Given the description of an element on the screen output the (x, y) to click on. 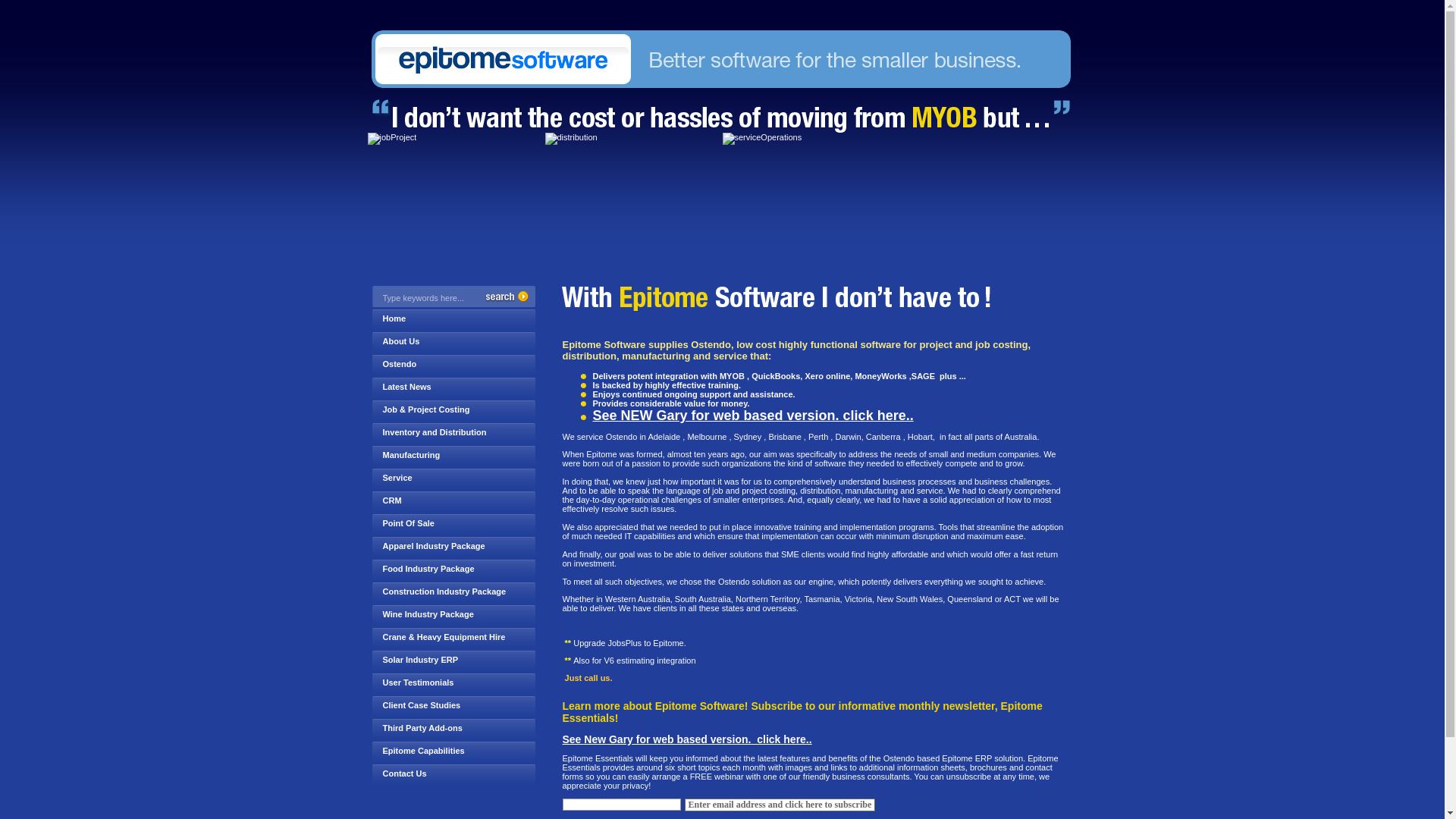
User Testimonials Element type: text (451, 682)
Home Element type: text (451, 318)
Service Element type: text (451, 478)
Third Party Add-ons Element type: text (451, 728)
Latest News Element type: text (451, 387)
Inventory and Distribution Element type: text (451, 432)
Epitome Capabilities Element type: text (451, 751)
Apparel Industry Package Element type: text (451, 546)
See NEW Gary for web based version. click here.. Element type: text (753, 415)
Construction Industry Package Element type: text (451, 591)
Wine Industry Package Element type: text (451, 614)
Client Case Studies Element type: text (451, 705)
Food Industry Package Element type: text (451, 569)
Manufacturing Element type: text (451, 455)
CRM Element type: text (451, 500)
Crane & Heavy Equipment Hire Element type: text (451, 637)
Ostendo Element type: text (451, 364)
Enter email address and click here to subscribe Element type: text (779, 804)
Point Of Sale Element type: text (451, 523)
Job & Project Costing Element type: text (451, 409)
Solar Industry ERP Element type: text (451, 660)
About Us Element type: text (451, 341)
See New Gary for web based version.  click here.. Element type: text (687, 739)
Contact Us Element type: text (451, 773)
